Given the description of an element on the screen output the (x, y) to click on. 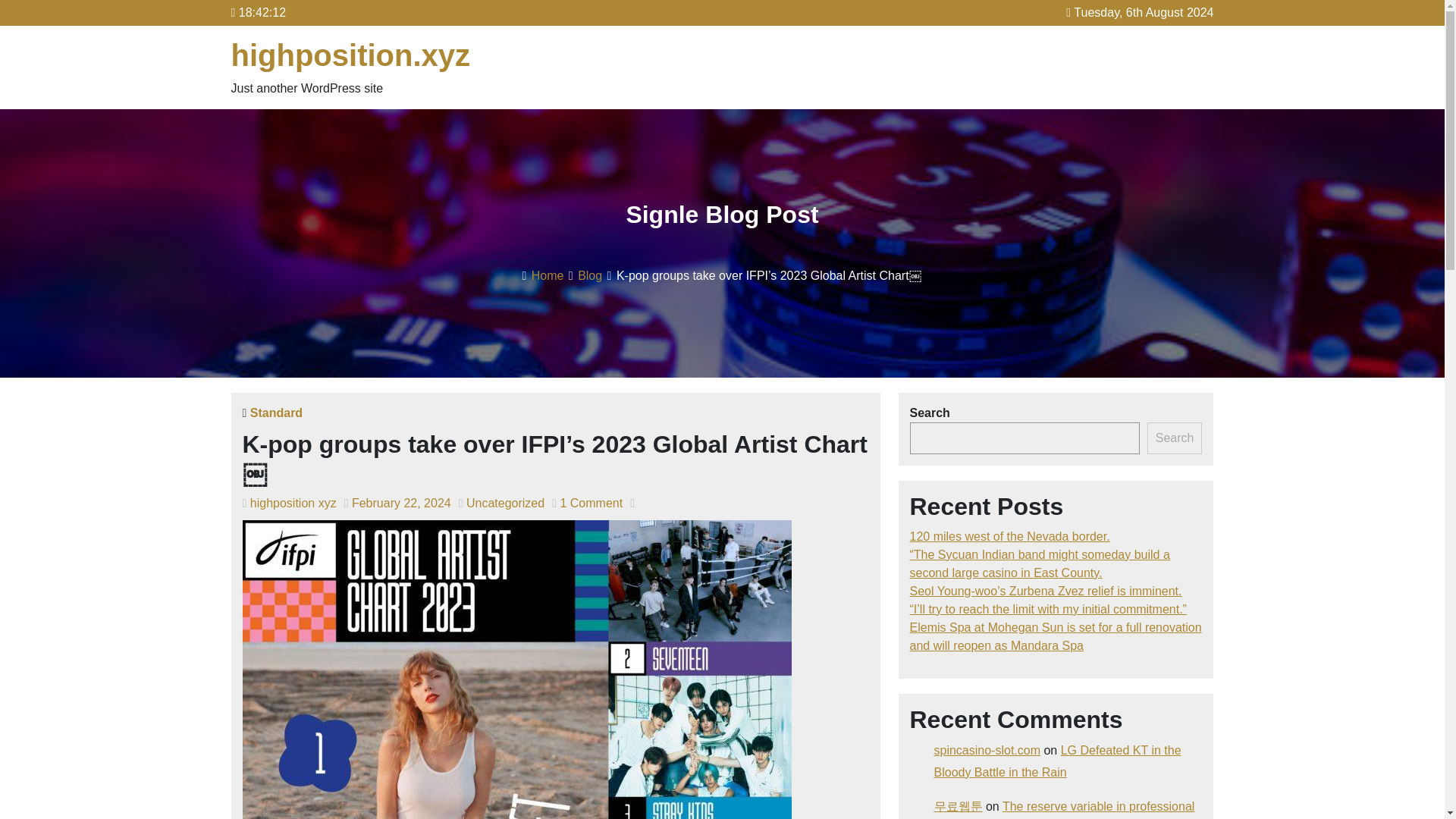
Uncategorized (504, 502)
1 Comment (591, 502)
120 miles west of the Nevada border. (1009, 535)
Home (547, 275)
February 22, 2024 (401, 502)
LG Defeated KT in the Bloody Battle in the Rain (1057, 760)
Blog (590, 275)
spincasino-slot.com (987, 749)
highposition xyz (293, 502)
